Given the description of an element on the screen output the (x, y) to click on. 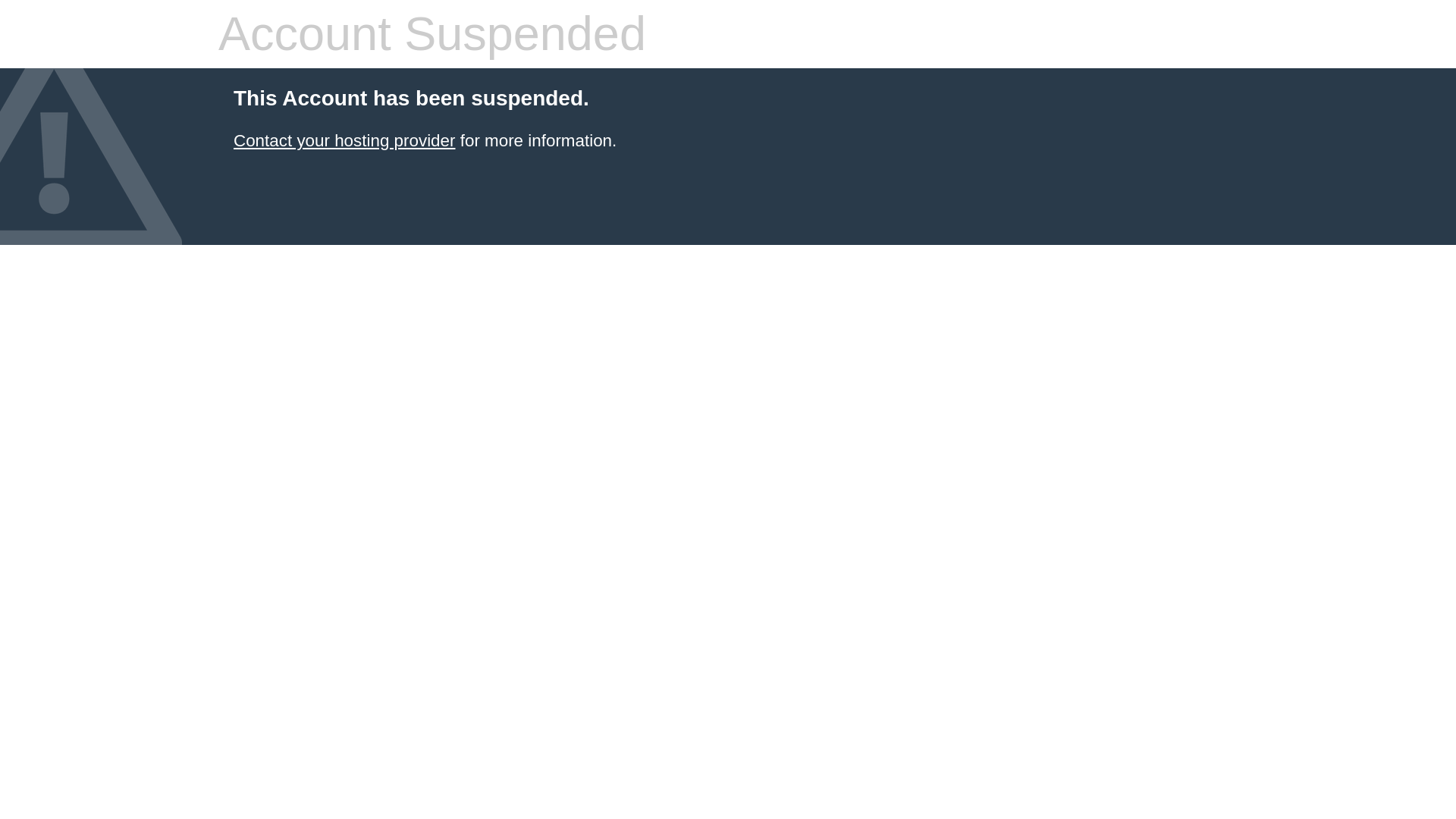
Contact your hosting provider (343, 140)
